Given the description of an element on the screen output the (x, y) to click on. 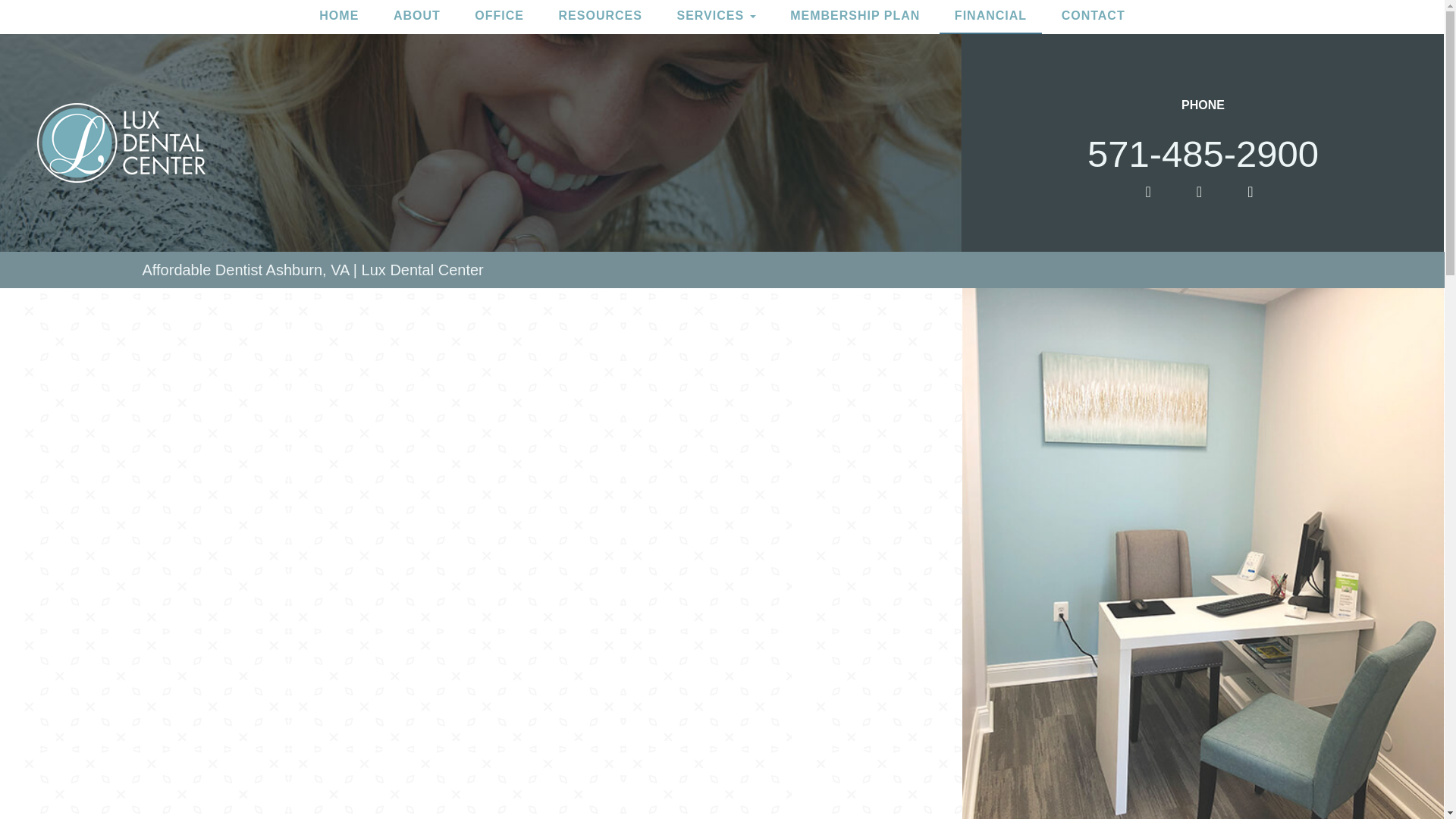
Financial (990, 16)
OFFICE (499, 16)
Resources (600, 16)
Office (499, 16)
Membership Plan (854, 16)
RESOURCES (600, 16)
MEMBERSHIP PLAN (854, 16)
Services (715, 16)
ABOUT (416, 16)
Home (339, 16)
SERVICES (715, 16)
FINANCIAL (990, 16)
HOME (339, 16)
Contact (1093, 16)
571-485-2900 (1203, 128)
